Given the description of an element on the screen output the (x, y) to click on. 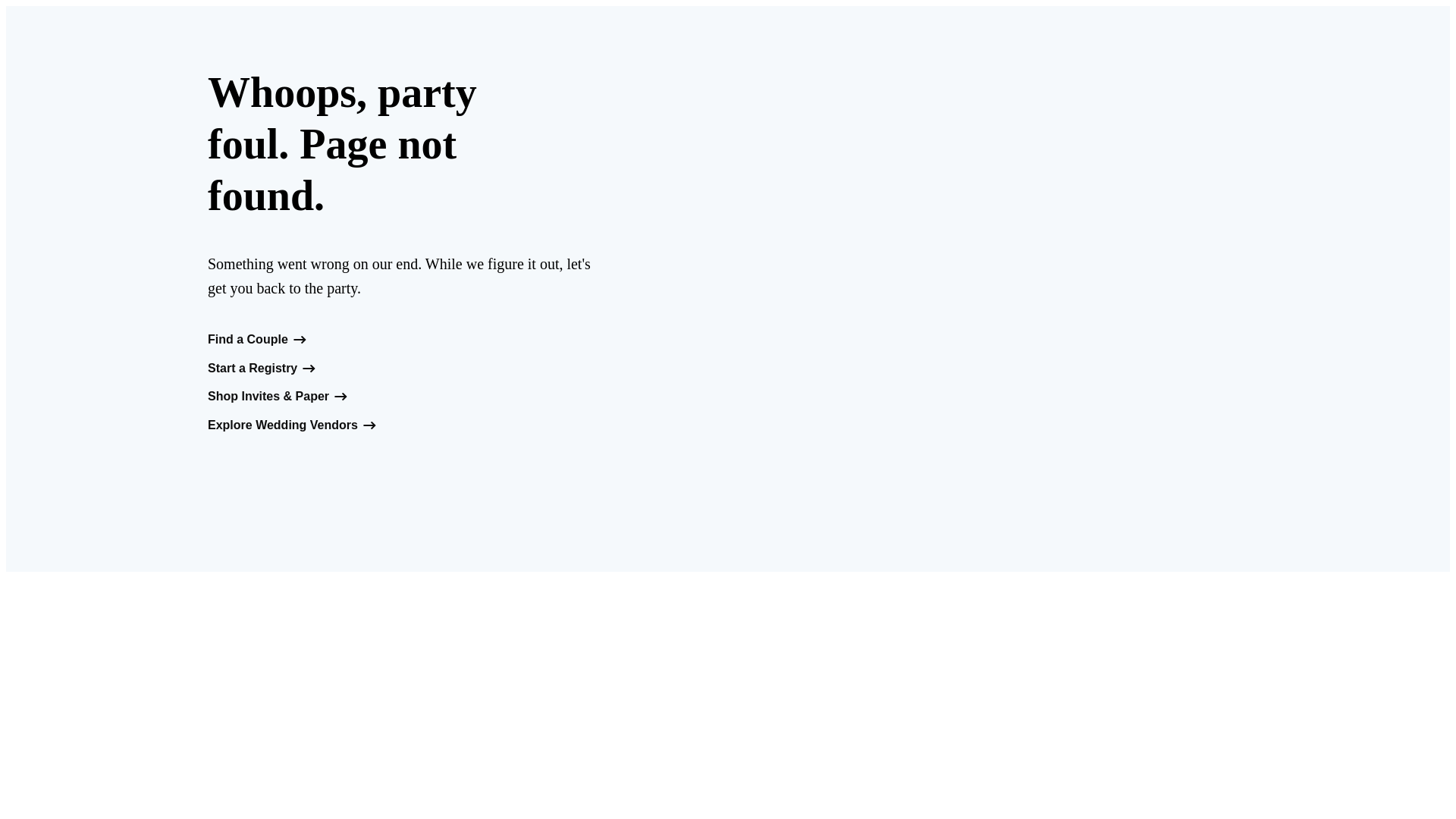
Find a Couple (258, 340)
Start a Registry (262, 369)
Explore Wedding Vendors (293, 425)
